Given the description of an element on the screen output the (x, y) to click on. 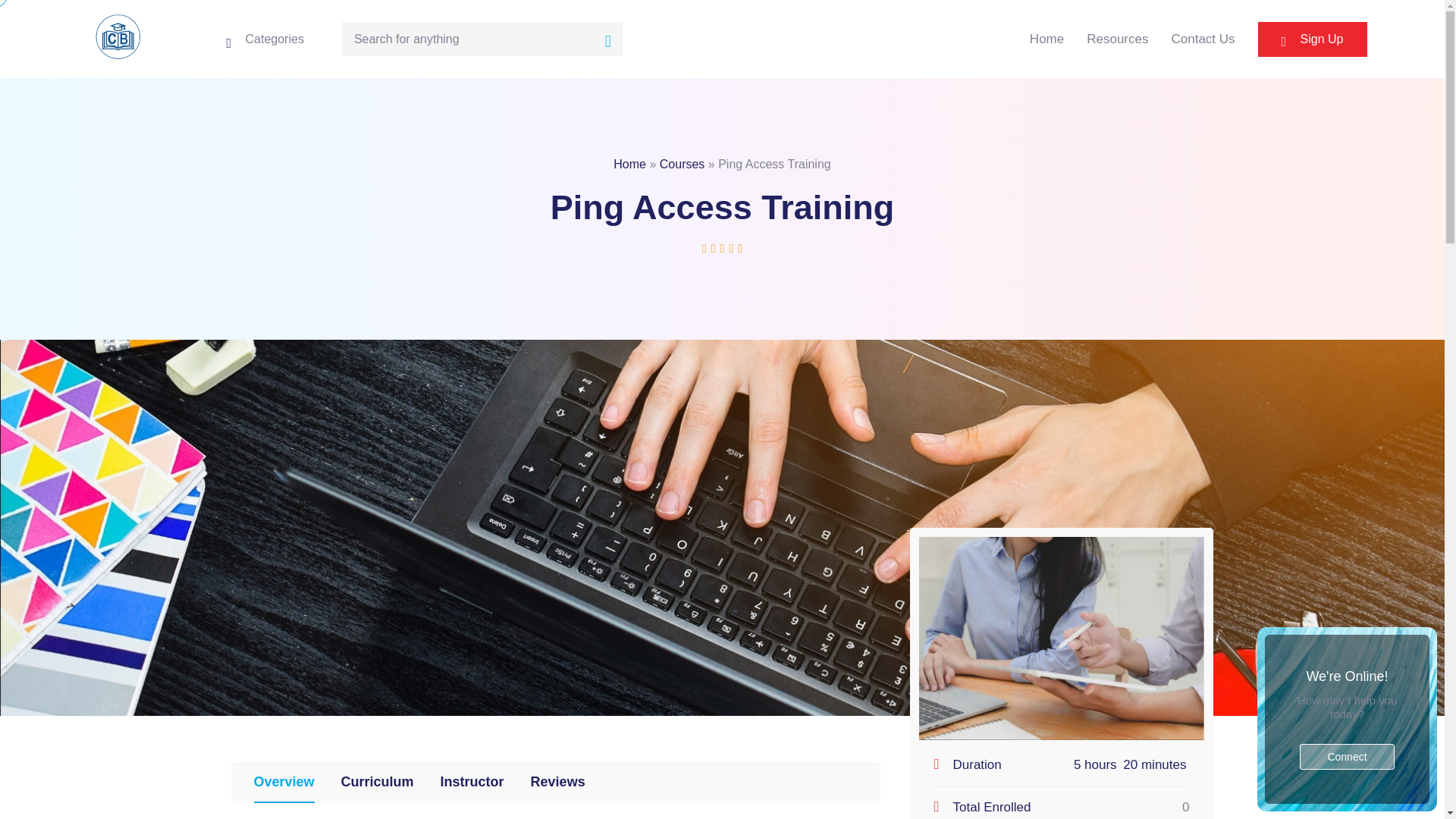
Home (629, 164)
Sign Up (1312, 38)
Home (1046, 39)
Resources (1117, 39)
Categories (263, 38)
Contact Us (1202, 39)
Contact Us (1202, 39)
How may I help you today? (1347, 707)
We're Online! (1347, 676)
Home (1046, 39)
Resources (1117, 39)
